Given the description of an element on the screen output the (x, y) to click on. 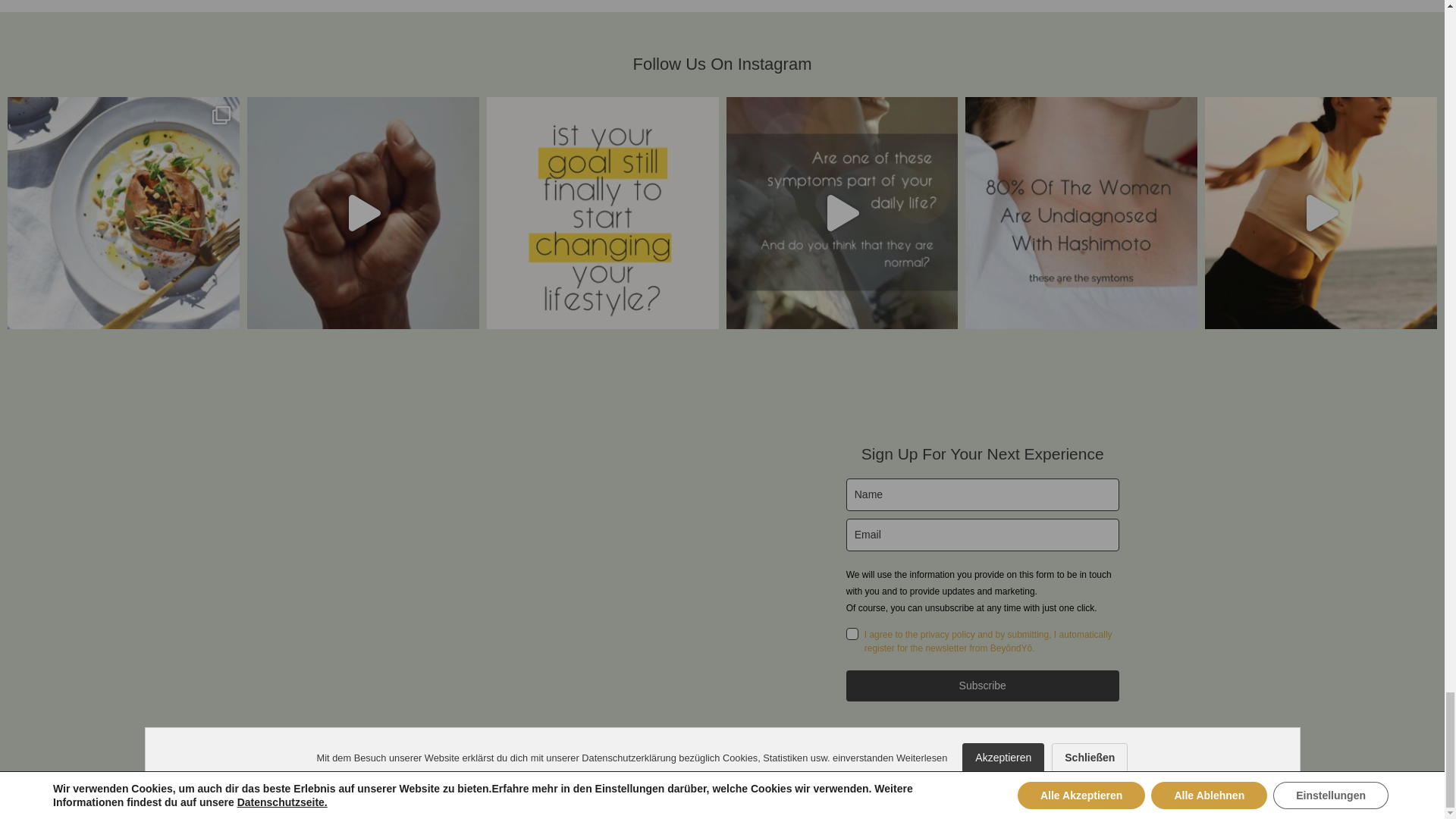
Follow Us On Instagram (722, 64)
